Given the description of an element on the screen output the (x, y) to click on. 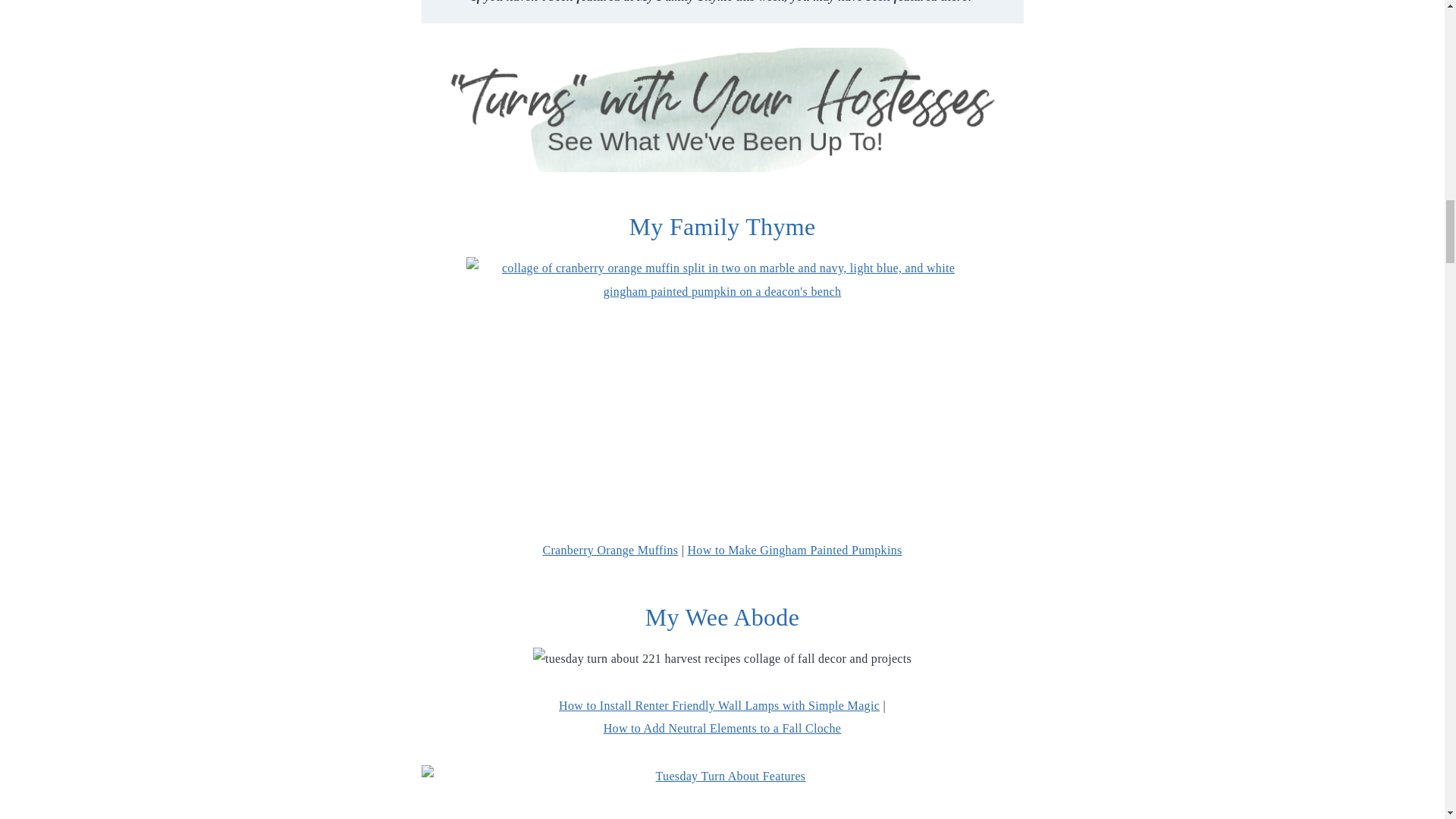
Cranberry Orange Muffins (609, 549)
How to Make Gingham Painted Pumpkins (794, 549)
How to Install Renter Friendly Wall Lamps with Simple Magic (719, 705)
